Given the description of an element on the screen output the (x, y) to click on. 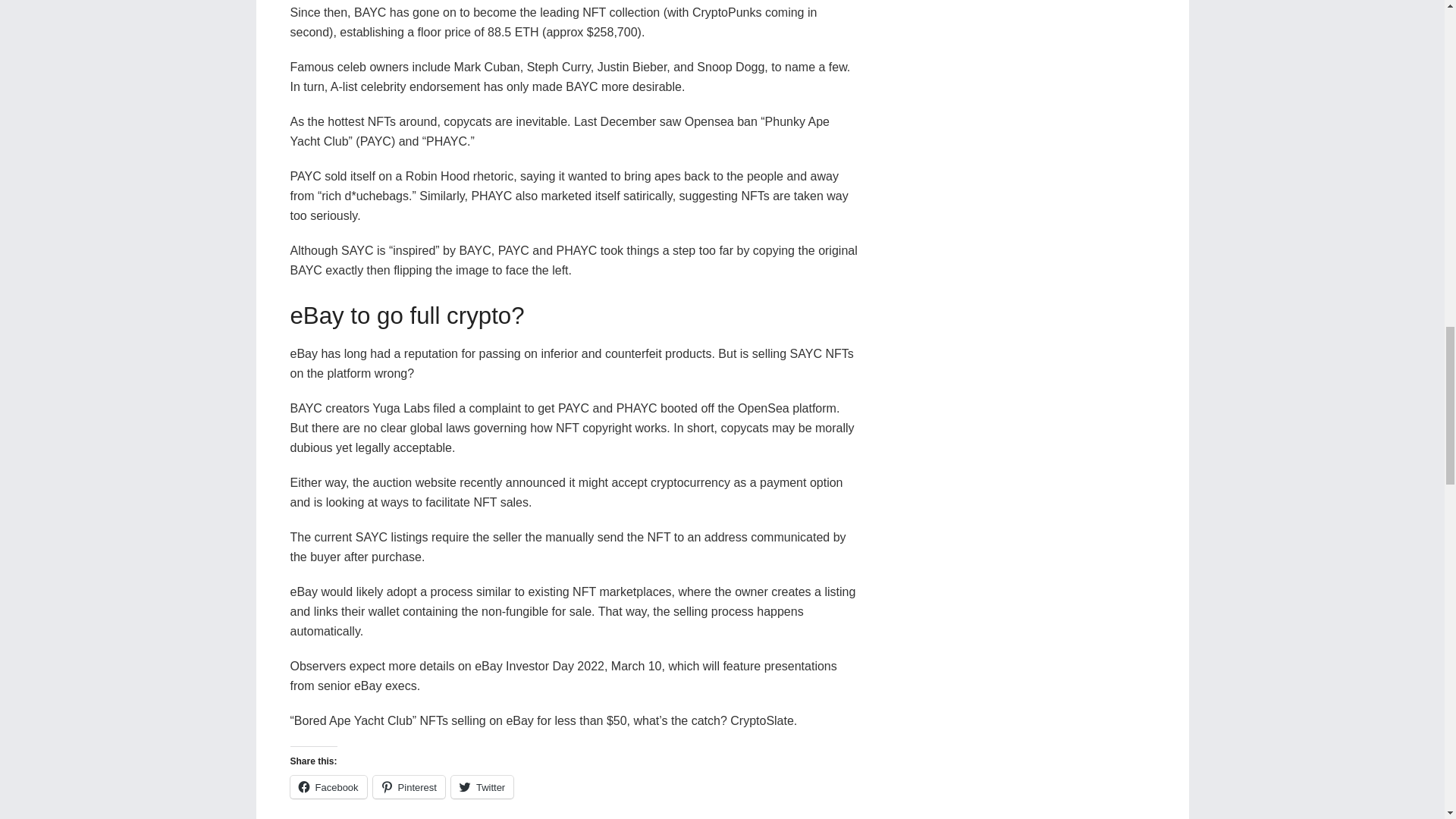
Click to share on Facebook (327, 786)
Pinterest (408, 786)
Click to share on Pinterest (408, 786)
Click to share on Twitter (482, 786)
Facebook (327, 786)
